Given the description of an element on the screen output the (x, y) to click on. 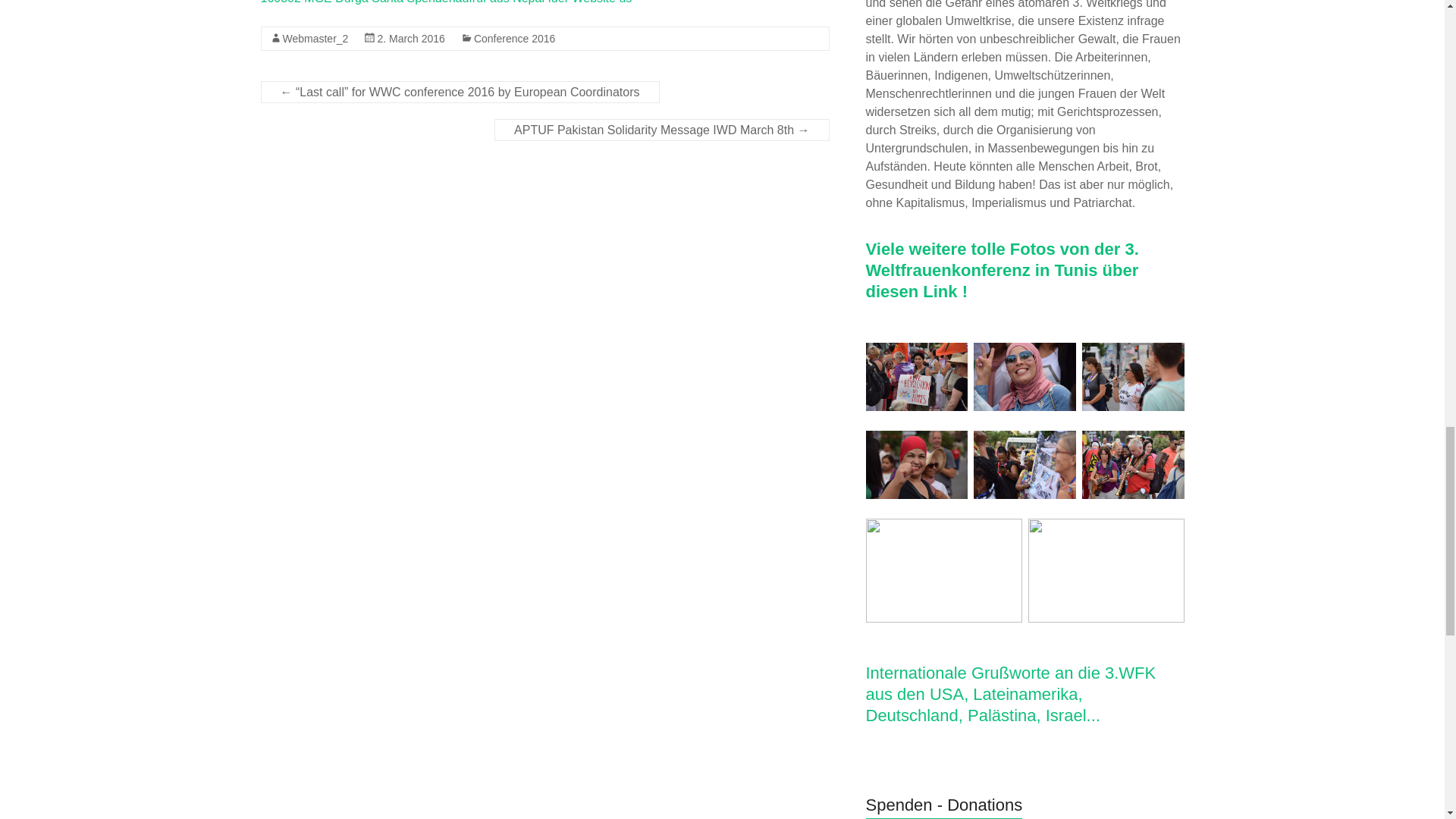
Conference 2016 (514, 38)
12:14 (411, 38)
2. March 2016 (411, 38)
